Given the description of an element on the screen output the (x, y) to click on. 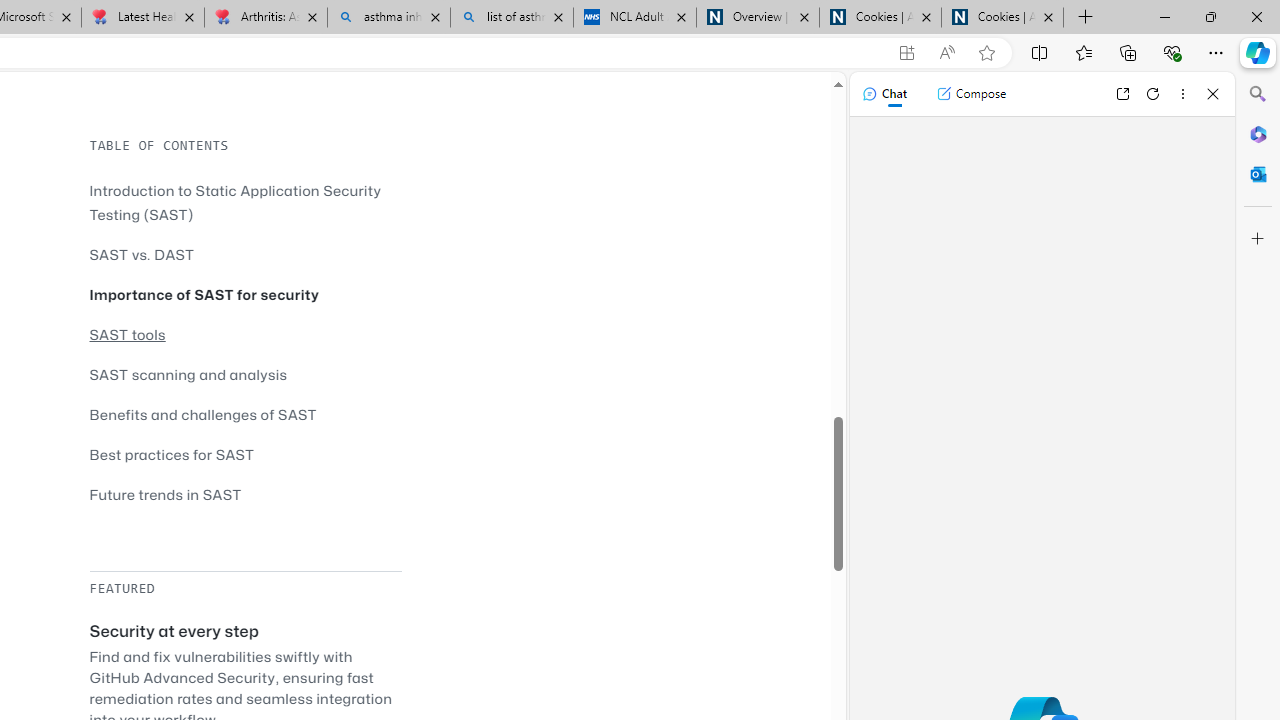
asthma inhaler - Search (388, 17)
SAST scanning and analysis (245, 374)
SAST tools (245, 334)
Best practices for SAST (171, 453)
Introduction to Static Application Security Testing (SAST) (235, 202)
SAST tools (127, 334)
